Given the description of an element on the screen output the (x, y) to click on. 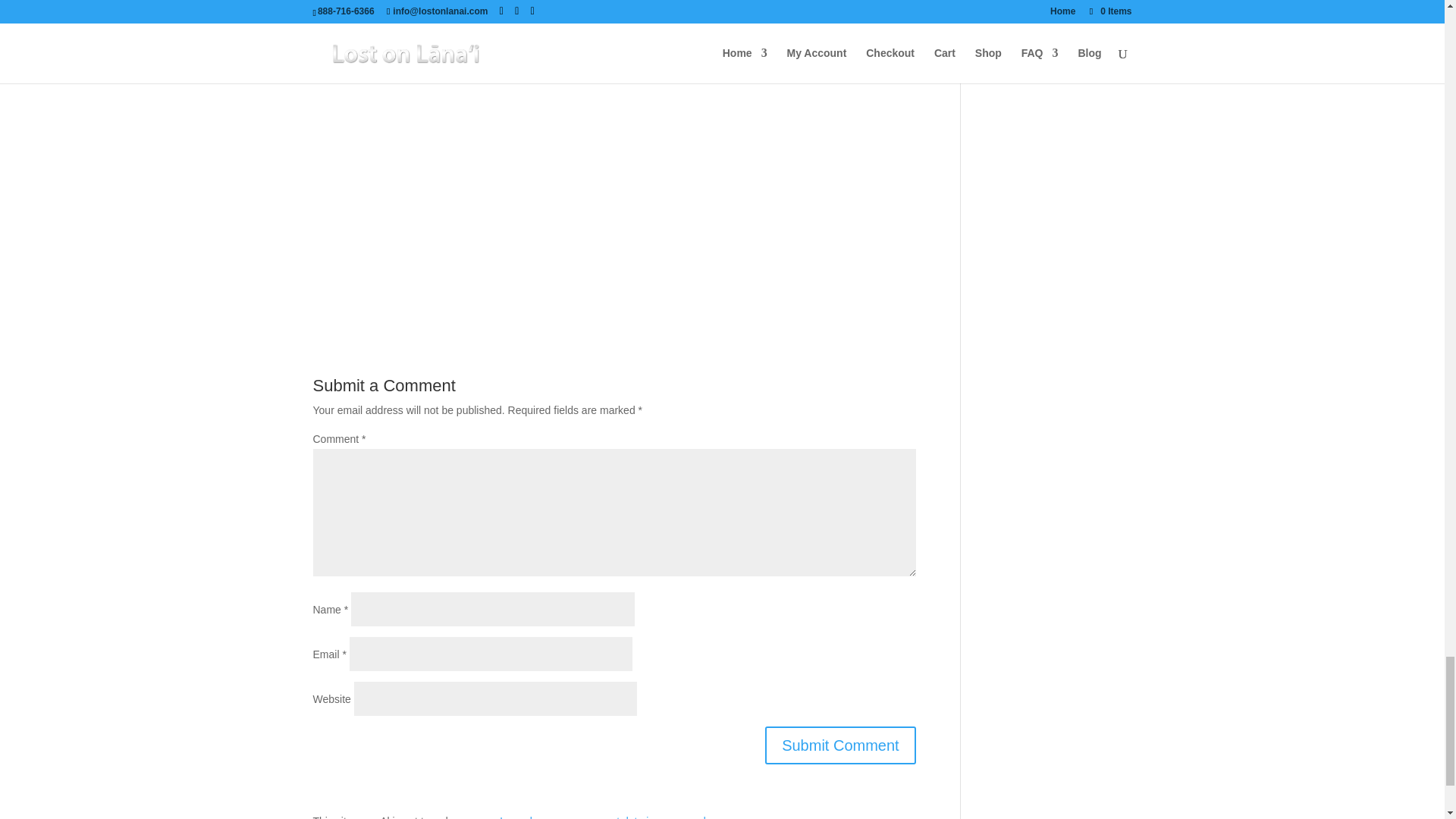
Submit Comment (840, 745)
